Given the description of an element on the screen output the (x, y) to click on. 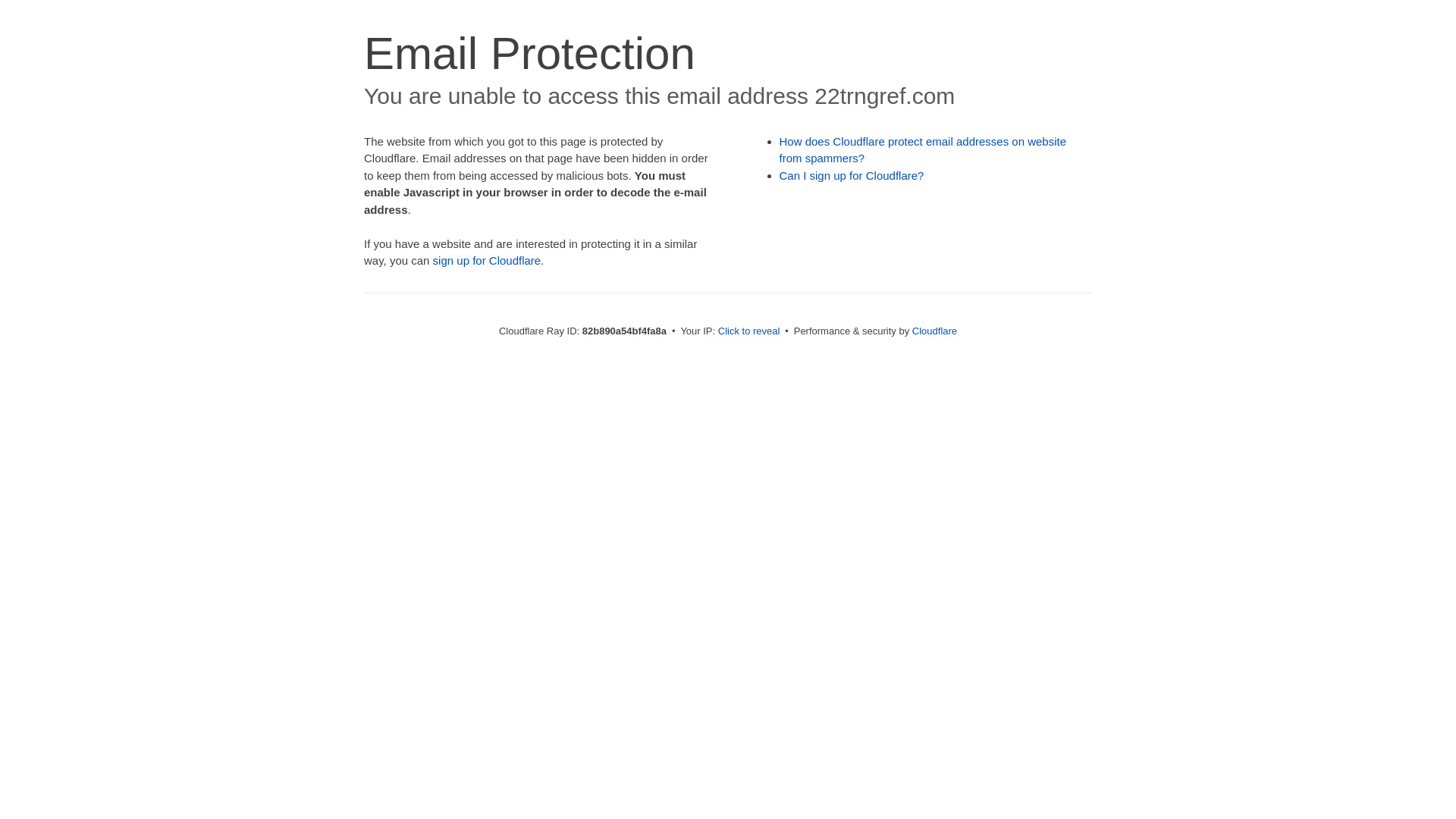
Cloudflare Element type: text (934, 330)
Can I sign up for Cloudflare? Element type: text (851, 175)
Click to reveal Element type: text (749, 330)
sign up for Cloudflare Element type: text (487, 260)
